Given the description of an element on the screen output the (x, y) to click on. 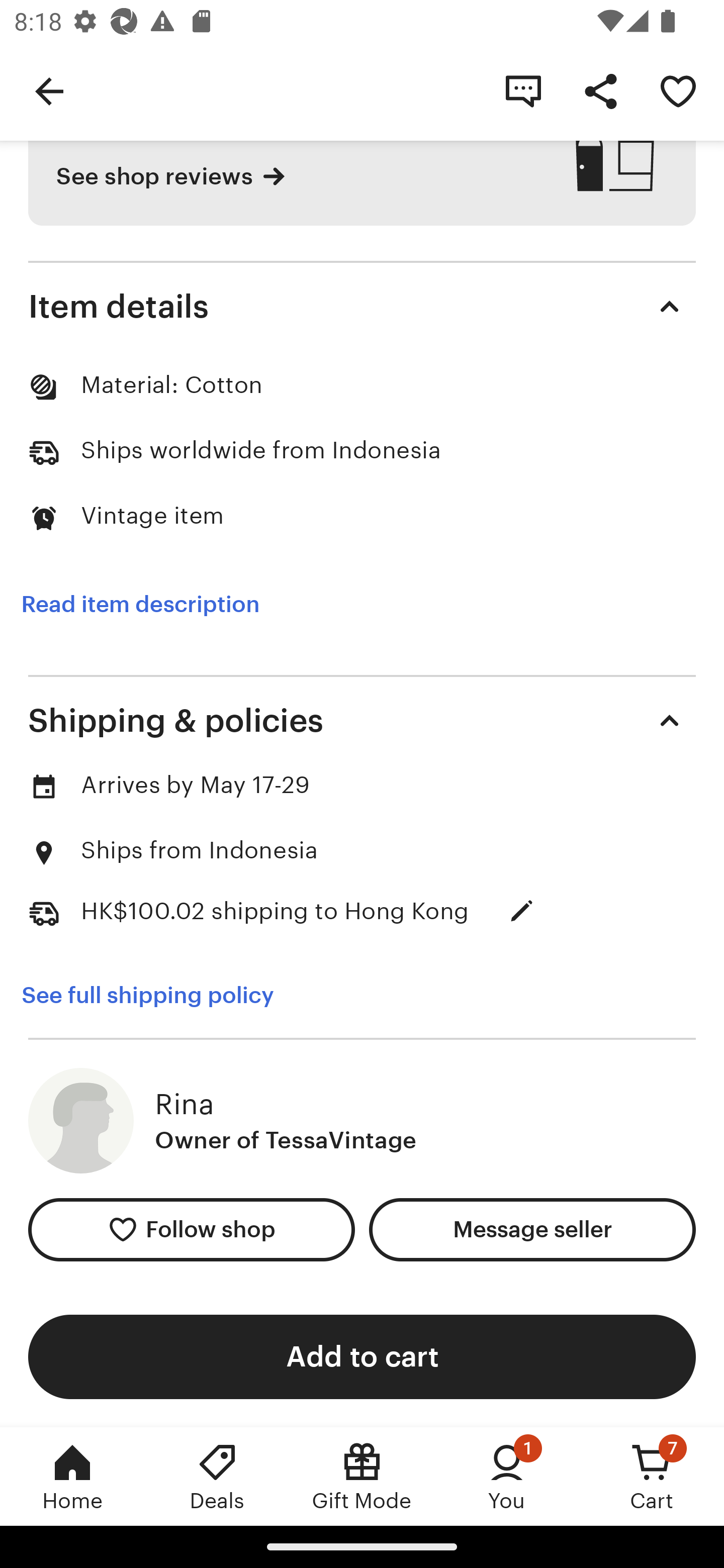
Navigate up (49, 90)
Contact shop (523, 90)
Share (600, 90)
Item details (362, 306)
Read item description (140, 604)
Shipping & policies (362, 720)
Update (521, 910)
See full shipping policy (147, 995)
Follow shop Follow TessaVintage (191, 1228)
Message seller (532, 1228)
Add to cart (361, 1355)
Deals (216, 1475)
Gift Mode (361, 1475)
You, 1 new notification You (506, 1475)
Cart, 7 new notifications Cart (651, 1475)
